Given the description of an element on the screen output the (x, y) to click on. 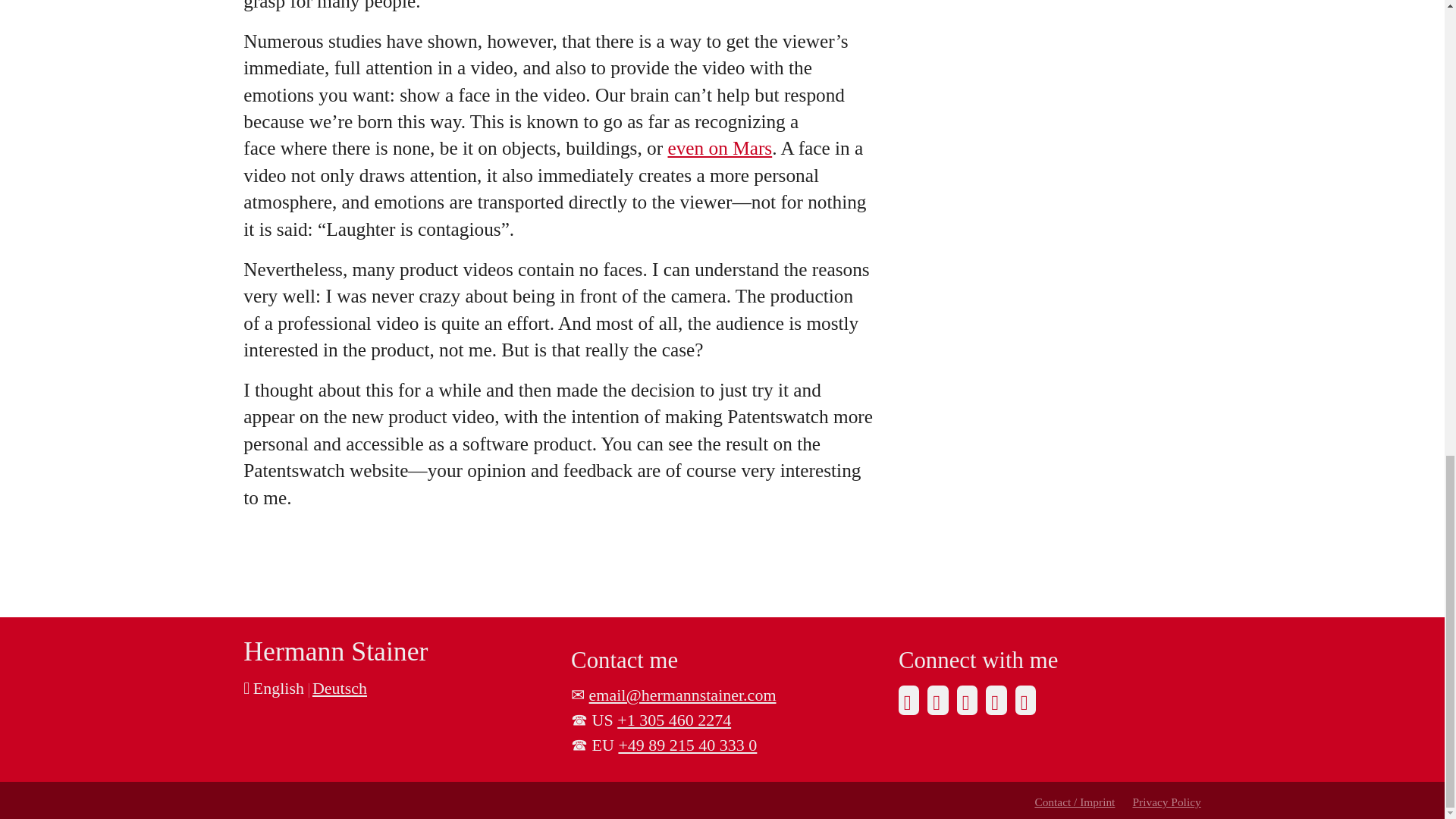
even on Mars (718, 147)
Deutsch (339, 687)
Privacy Policy (1166, 801)
